Given the description of an element on the screen output the (x, y) to click on. 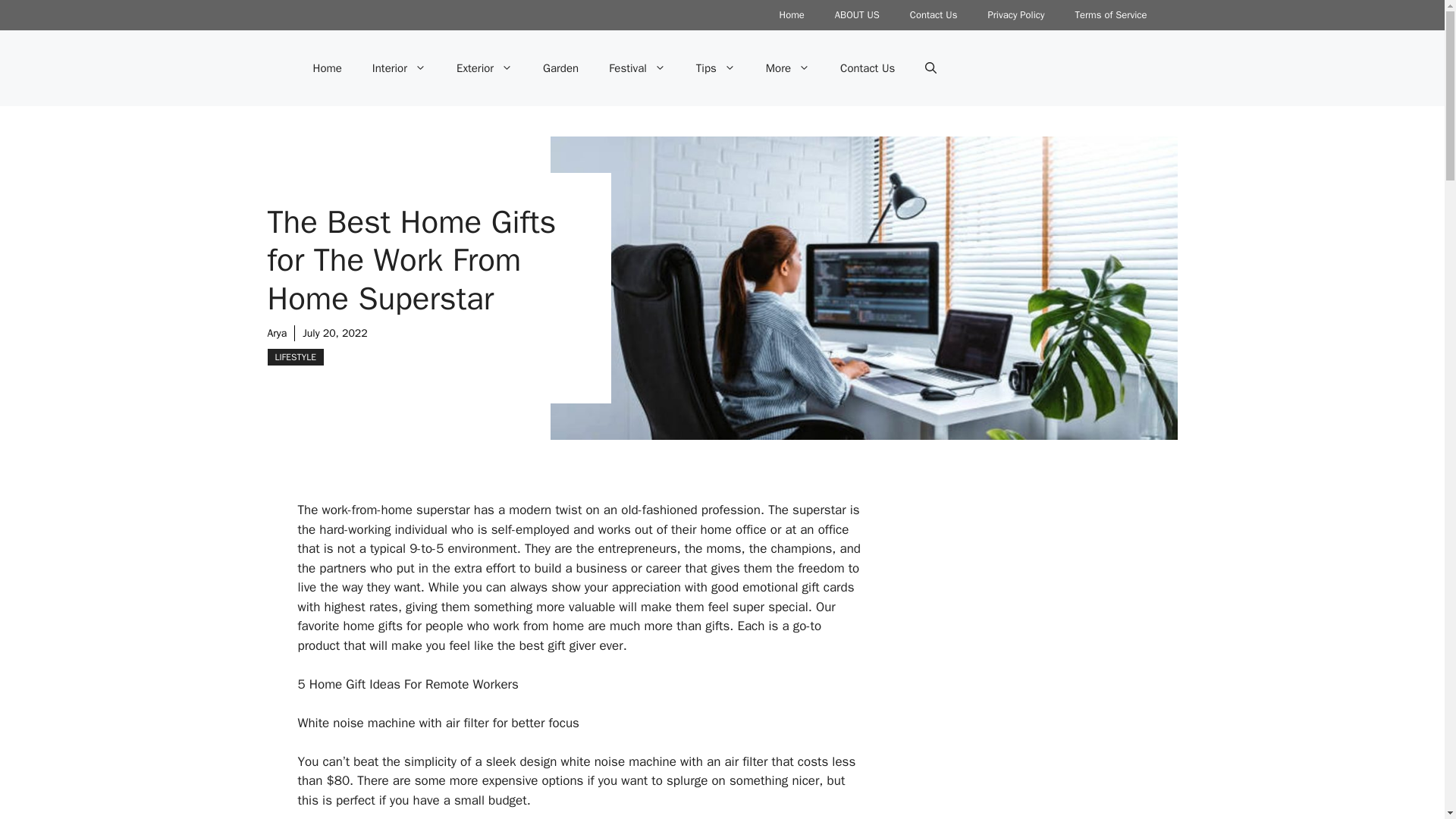
Contact Us (933, 15)
Garden (560, 67)
Festival (637, 67)
Tips (716, 67)
Interior (398, 67)
Home (326, 67)
Home (791, 15)
Privacy Policy (1015, 15)
More (788, 67)
Terms of Service (1110, 15)
Exterior (484, 67)
ABOUT US (857, 15)
